Given the description of an element on the screen output the (x, y) to click on. 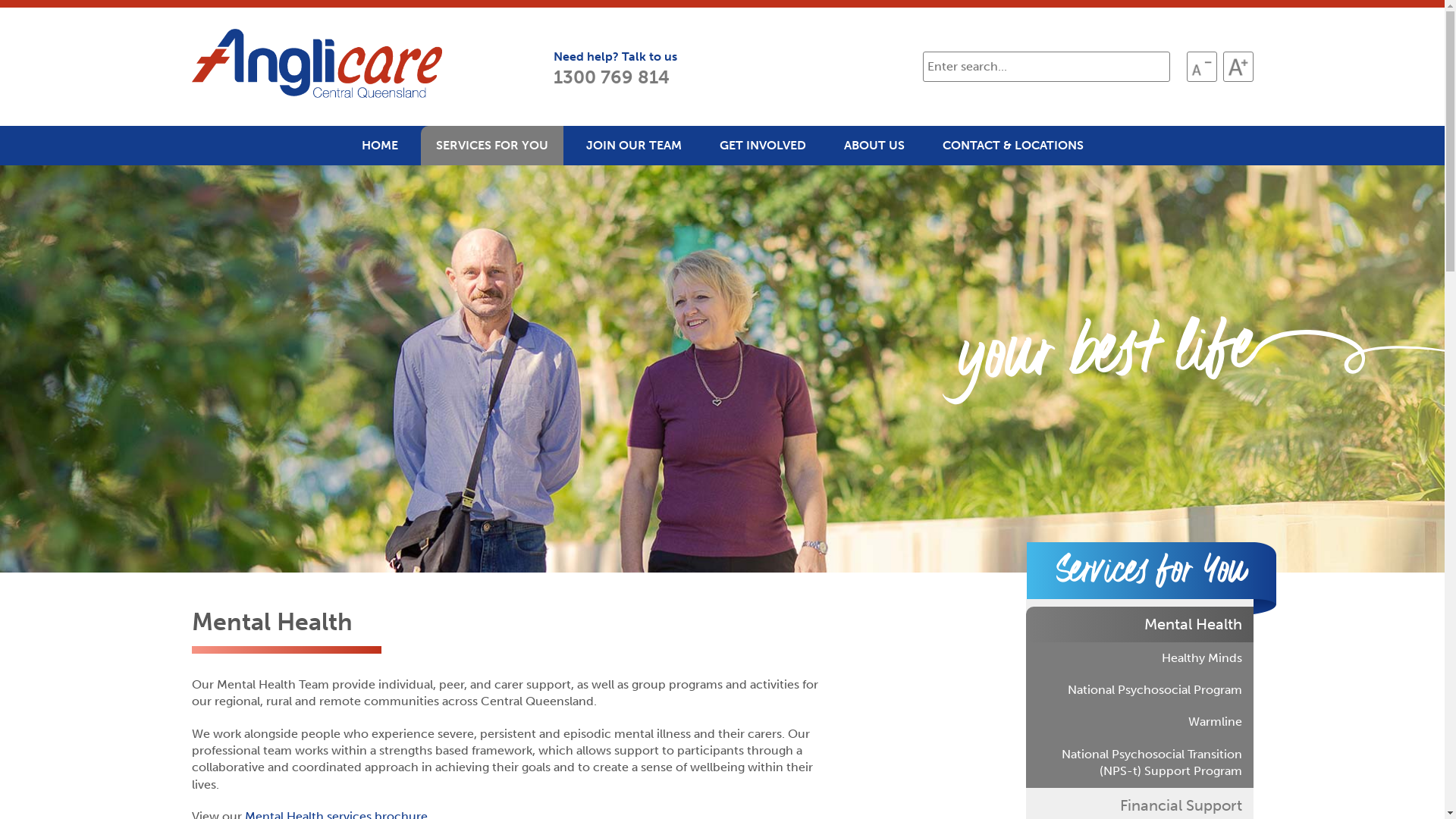
Warmline Element type: text (1138, 721)
JOIN OUR TEAM Element type: text (633, 145)
National Psychosocial Program Element type: text (1138, 690)
SERVICES FOR YOU Element type: text (491, 145)
CONTACT & LOCATIONS Element type: text (1012, 145)
Mental Health Element type: text (1138, 623)
HOME Element type: text (378, 145)
National Psychosocial Transition (NPS-t) Support Program Element type: text (1138, 762)
Healthy Minds Element type: text (1138, 658)
ABOUT US Element type: text (873, 145)
GET INVOLVED Element type: text (761, 145)
